Given the description of an element on the screen output the (x, y) to click on. 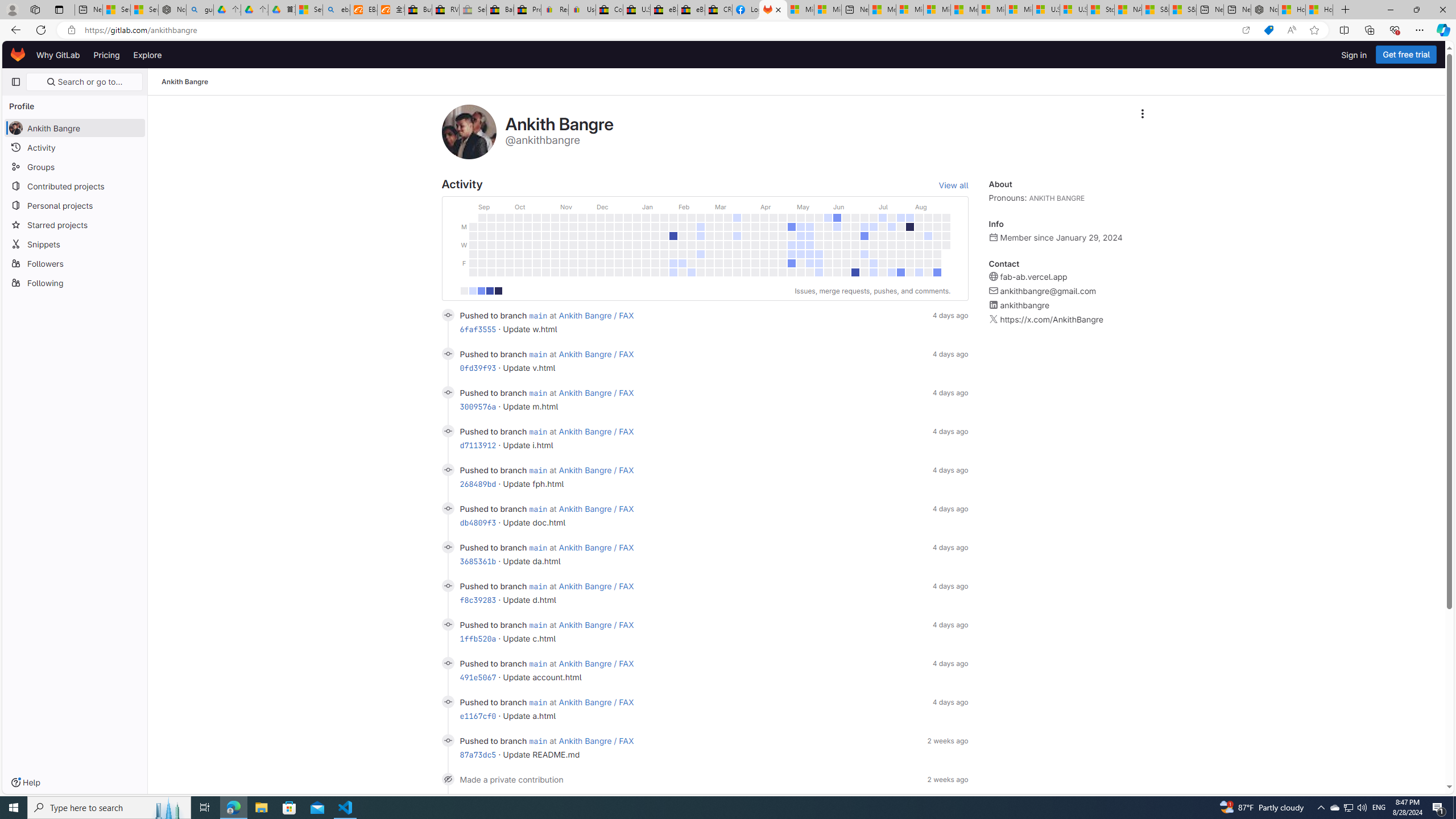
f8c39283 (478, 599)
